Given the description of an element on the screen output the (x, y) to click on. 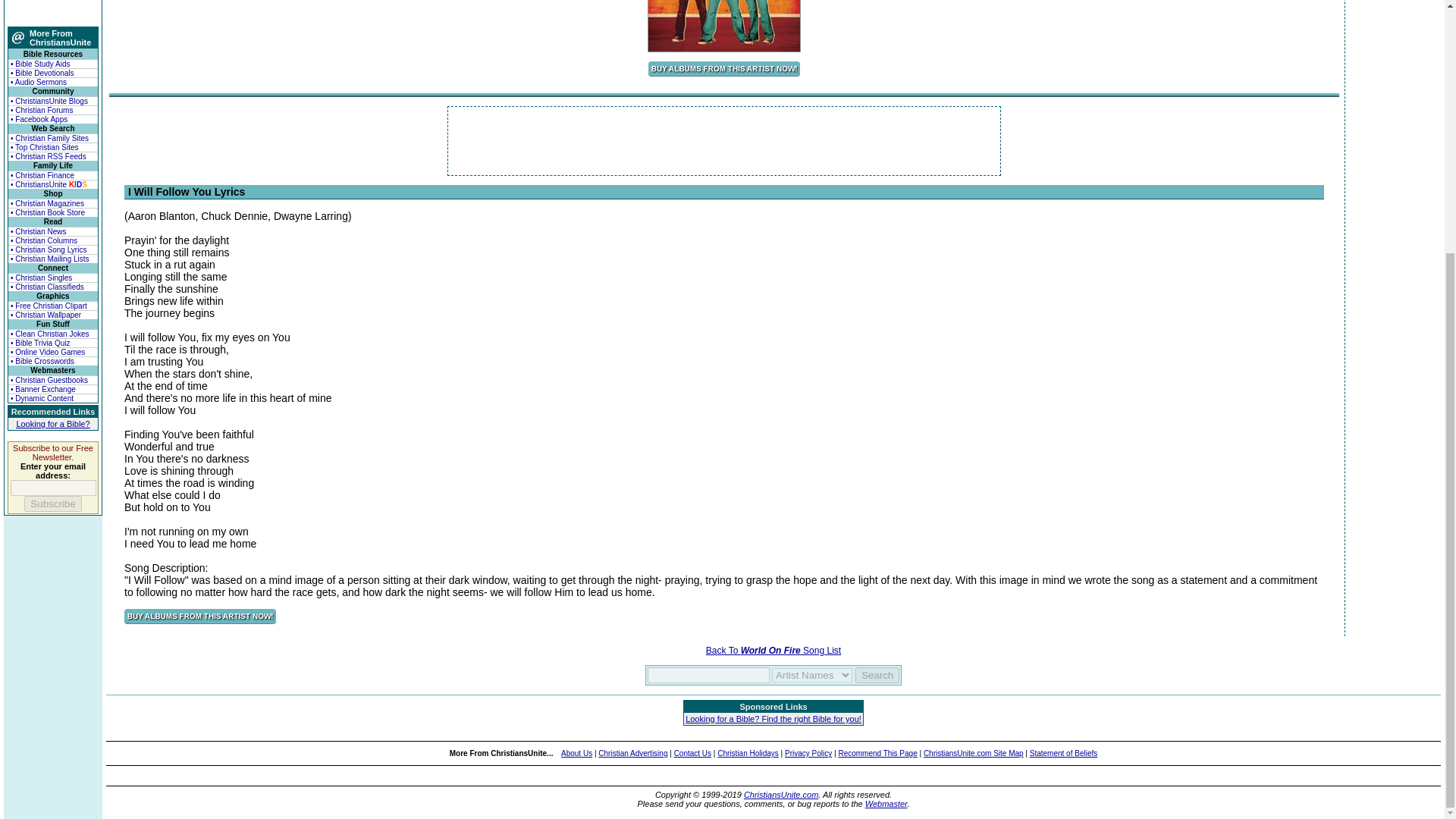
Search (877, 675)
Looking for a Bible? (52, 423)
Subscribe (52, 503)
Advertisement (53, 12)
Subscribe (52, 503)
Advertisement (724, 141)
